Given the description of an element on the screen output the (x, y) to click on. 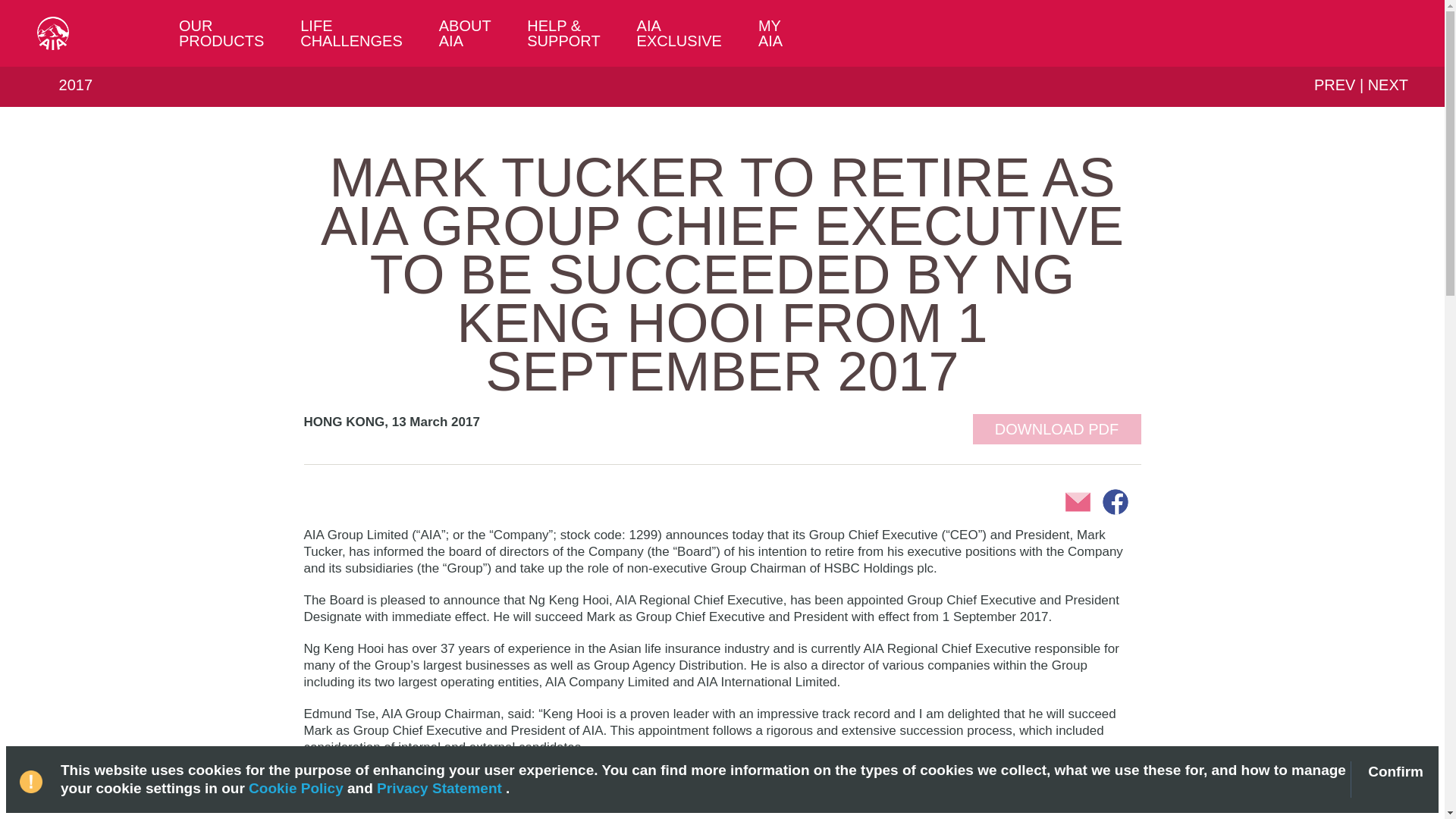
Contact Us (1390, 33)
Skip to main content (51, 7)
Search (1358, 33)
notification-2nd (33, 774)
